Given the description of an element on the screen output the (x, y) to click on. 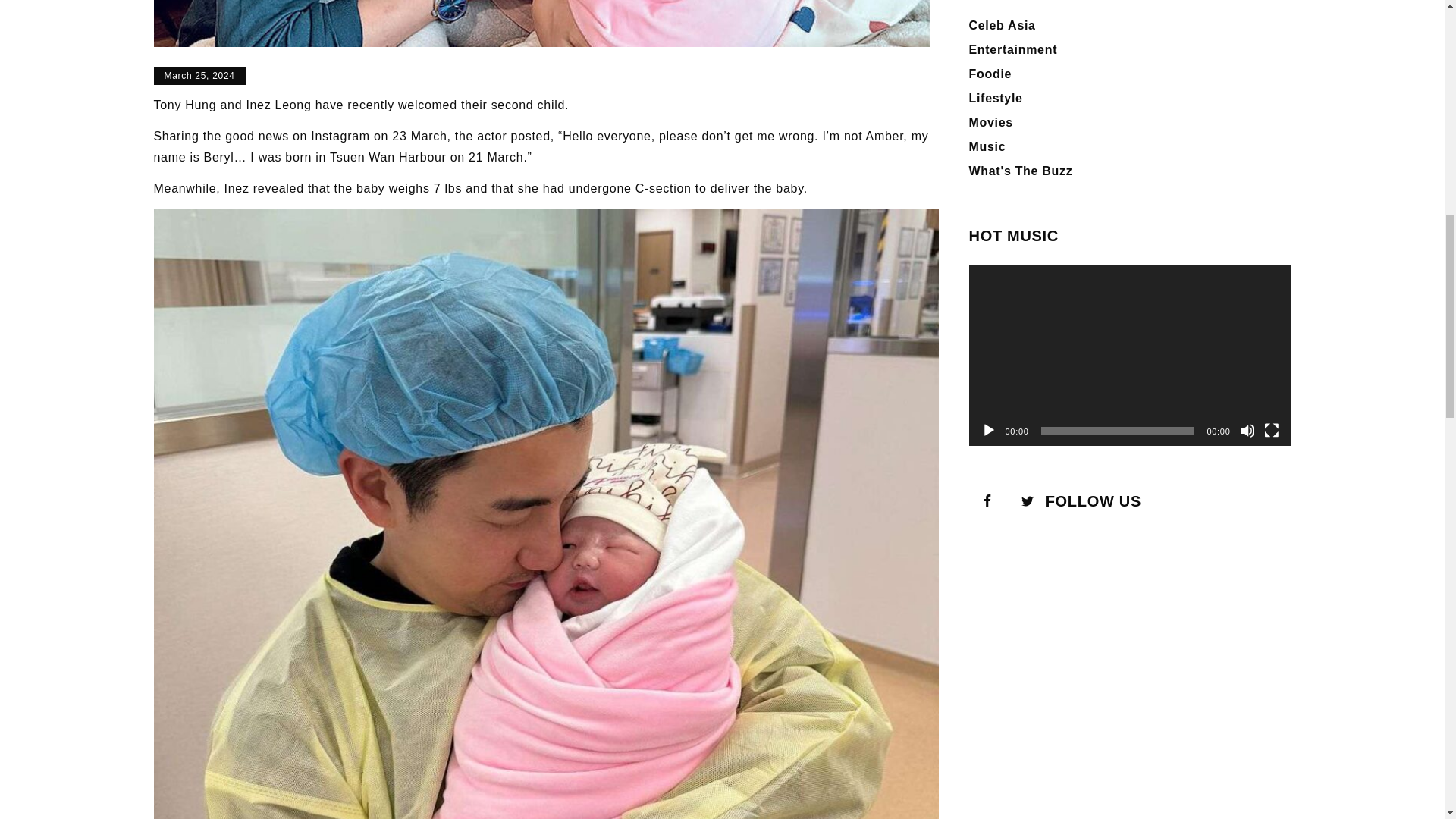
Entertainment (1013, 49)
March 25, 2024 (198, 75)
Foodie (990, 73)
Mute (1246, 430)
Lifestyle (996, 97)
Celeb Asia (1002, 24)
Play (988, 430)
Fullscreen (1270, 430)
